Given the description of an element on the screen output the (x, y) to click on. 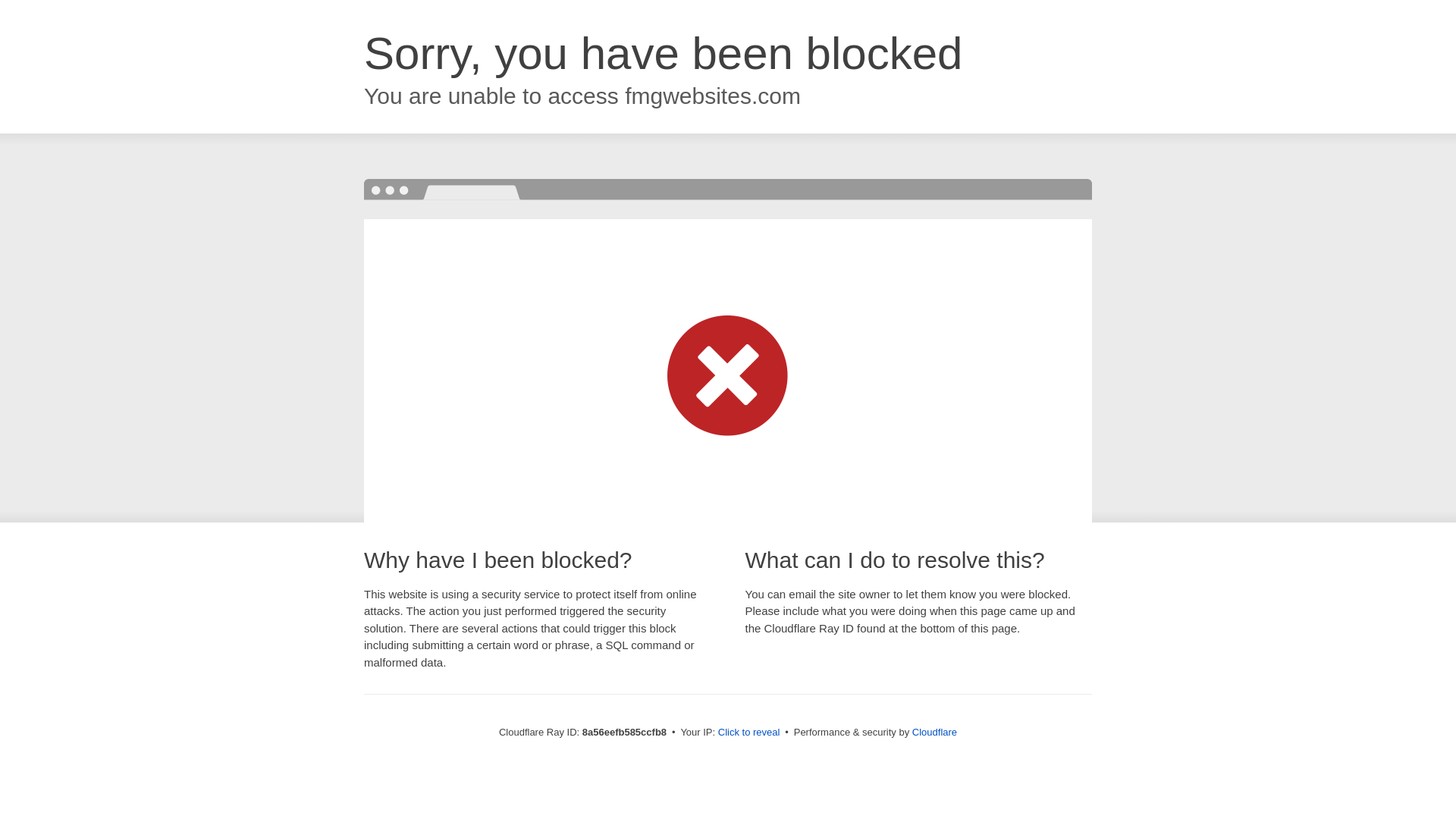
Click to reveal (748, 732)
Cloudflare (934, 731)
